Given the description of an element on the screen output the (x, y) to click on. 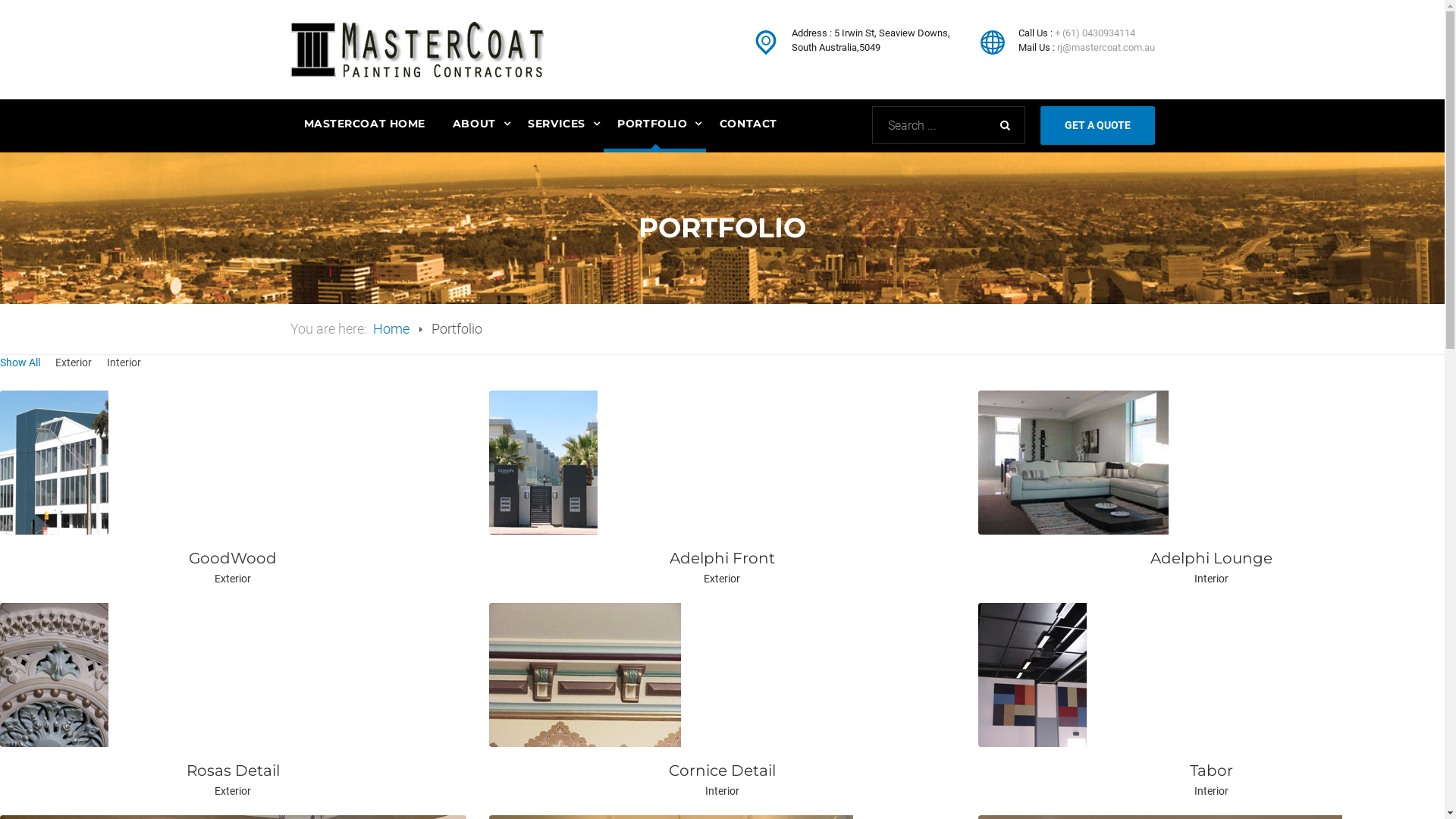
Rosas Detail Element type: text (232, 770)
Tabor Element type: text (1211, 770)
ABOUT Element type: text (476, 125)
PORTFOLIO Element type: text (654, 125)
Exterior Element type: text (73, 362)
SERVICES Element type: text (558, 125)
Mastercoat Element type: hover (415, 49)
CONTACT Element type: text (748, 125)
Adelphi Lounge Element type: text (1211, 558)
Show All Element type: text (20, 362)
GET A QUOTE Element type: text (1097, 125)
Interior Element type: text (123, 362)
Cornice Detail Element type: text (721, 770)
MASTERCOAT HOME Element type: text (363, 125)
GoodWood Element type: text (232, 558)
Adelphi Front Element type: text (722, 558)
Home Element type: text (391, 328)
